Given the description of an element on the screen output the (x, y) to click on. 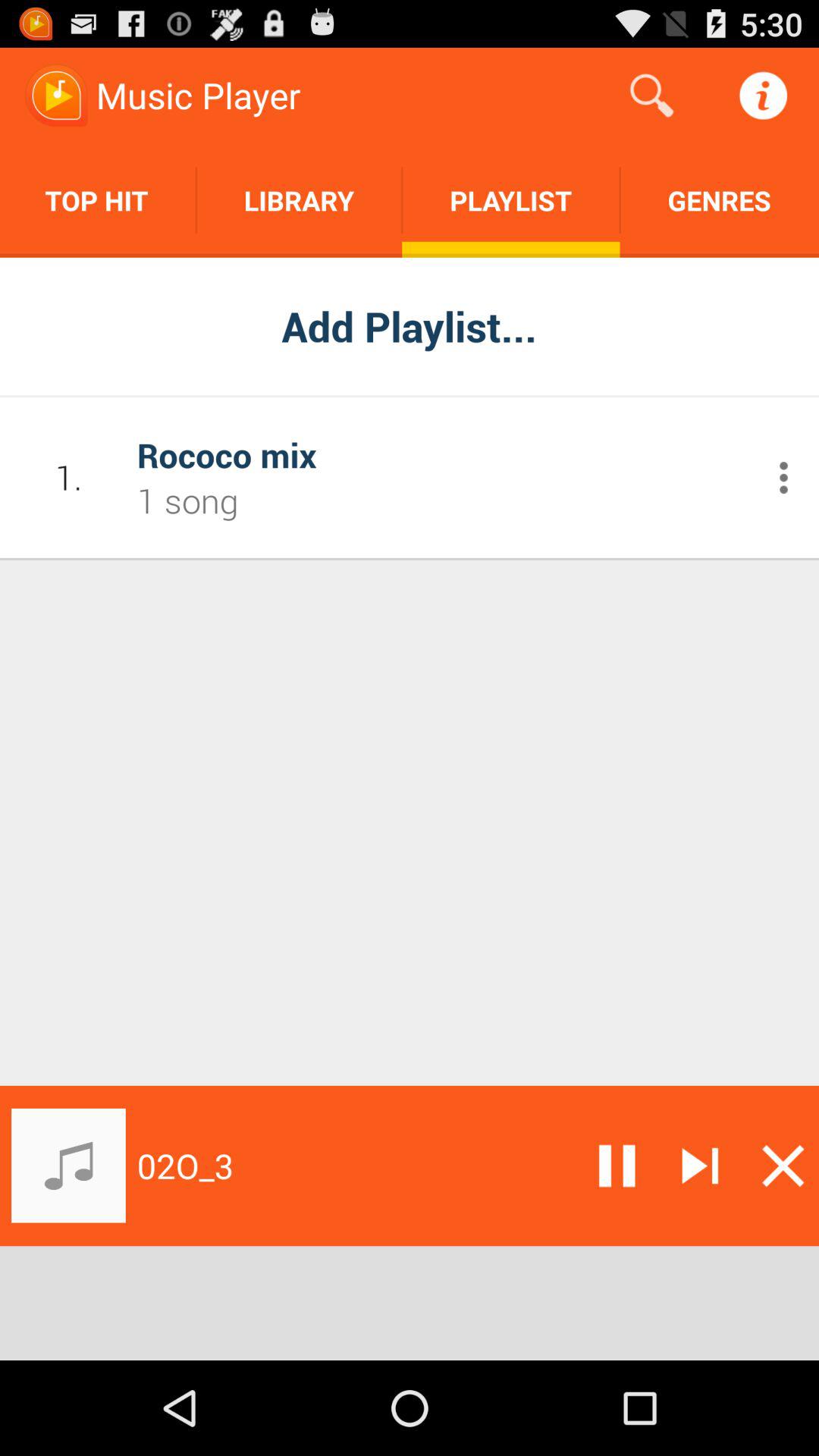
pause music (616, 1165)
